Given the description of an element on the screen output the (x, y) to click on. 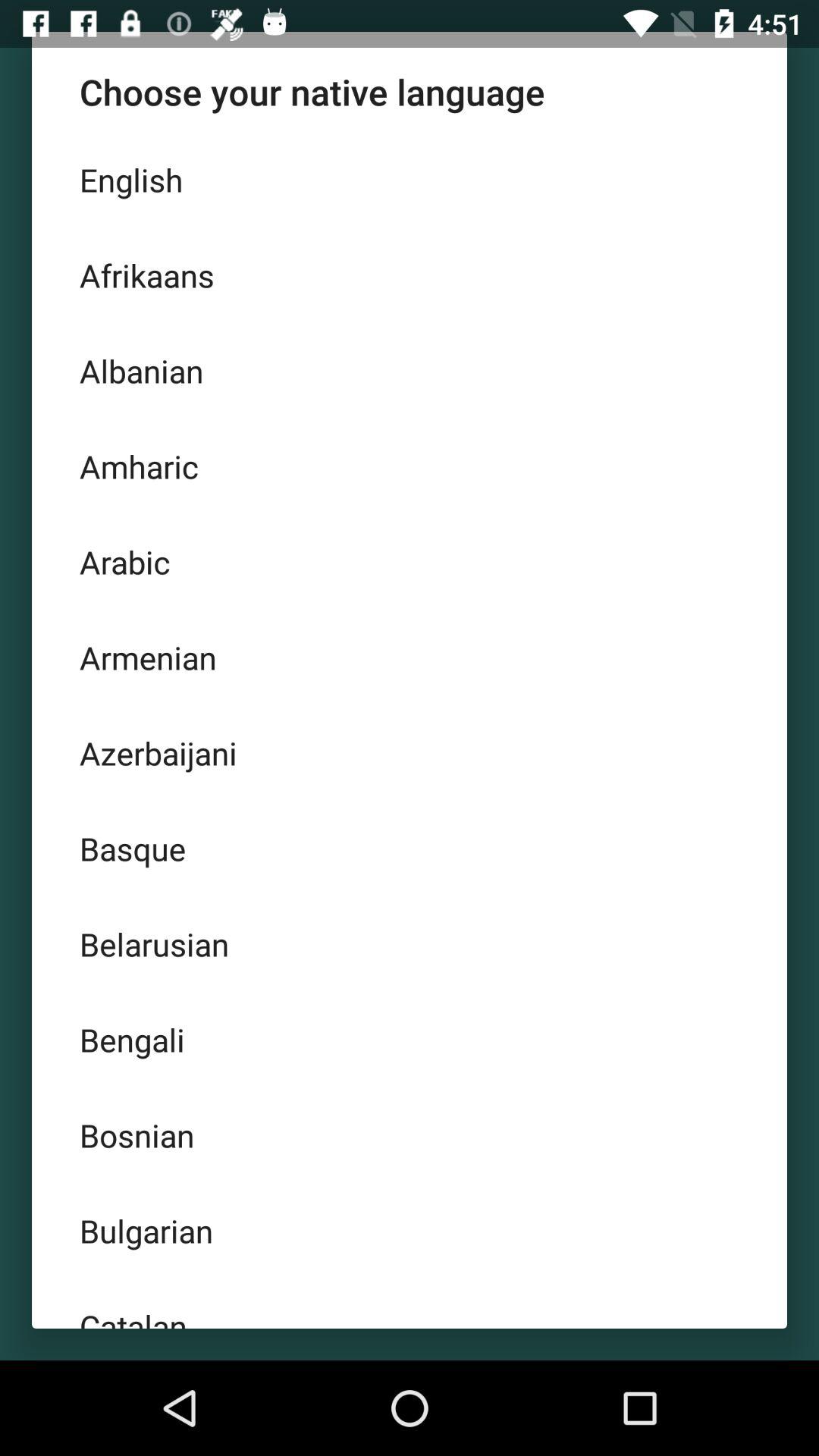
scroll to the amharic item (409, 466)
